Given the description of an element on the screen output the (x, y) to click on. 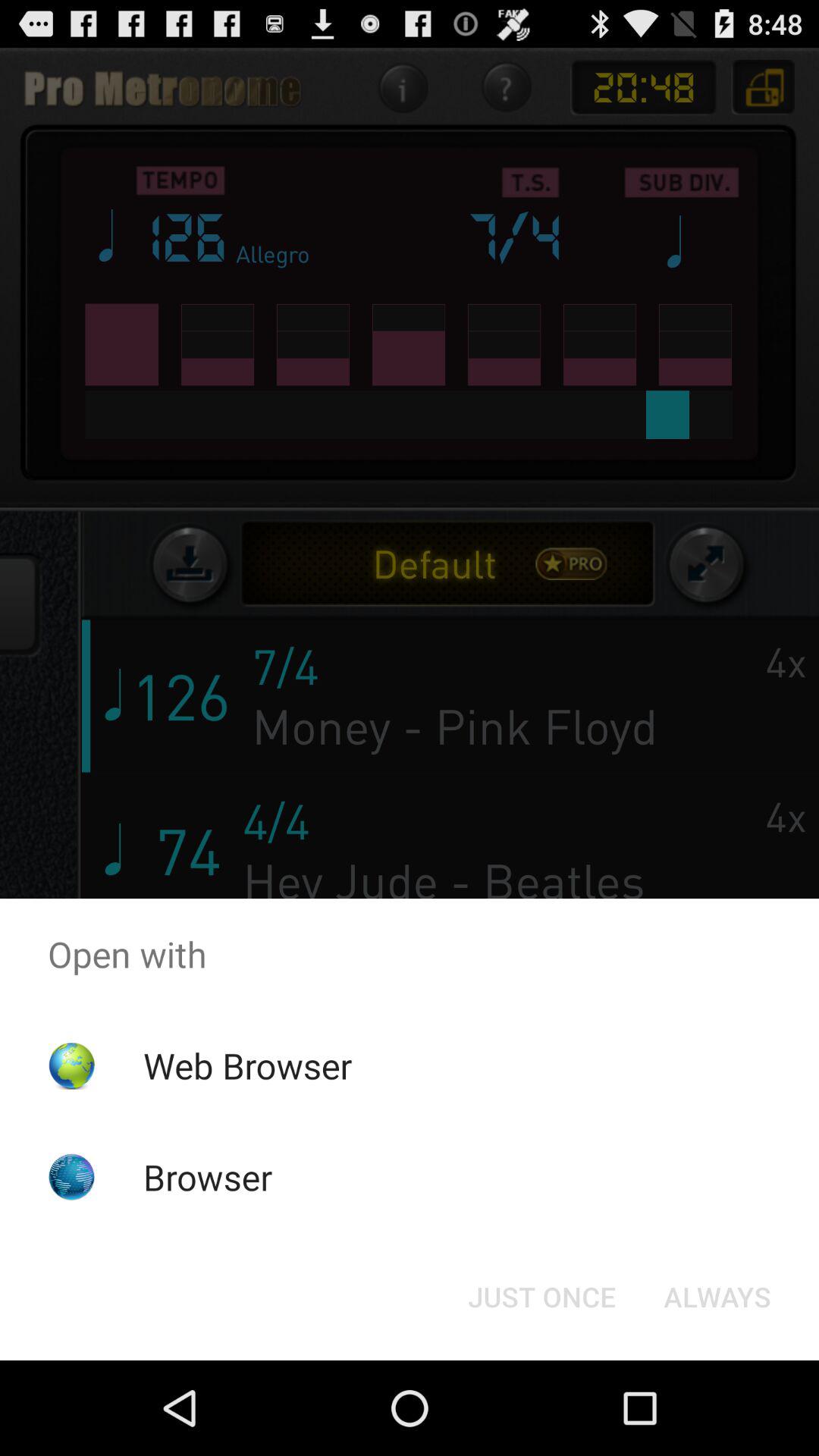
swipe until the always button (717, 1296)
